Given the description of an element on the screen output the (x, y) to click on. 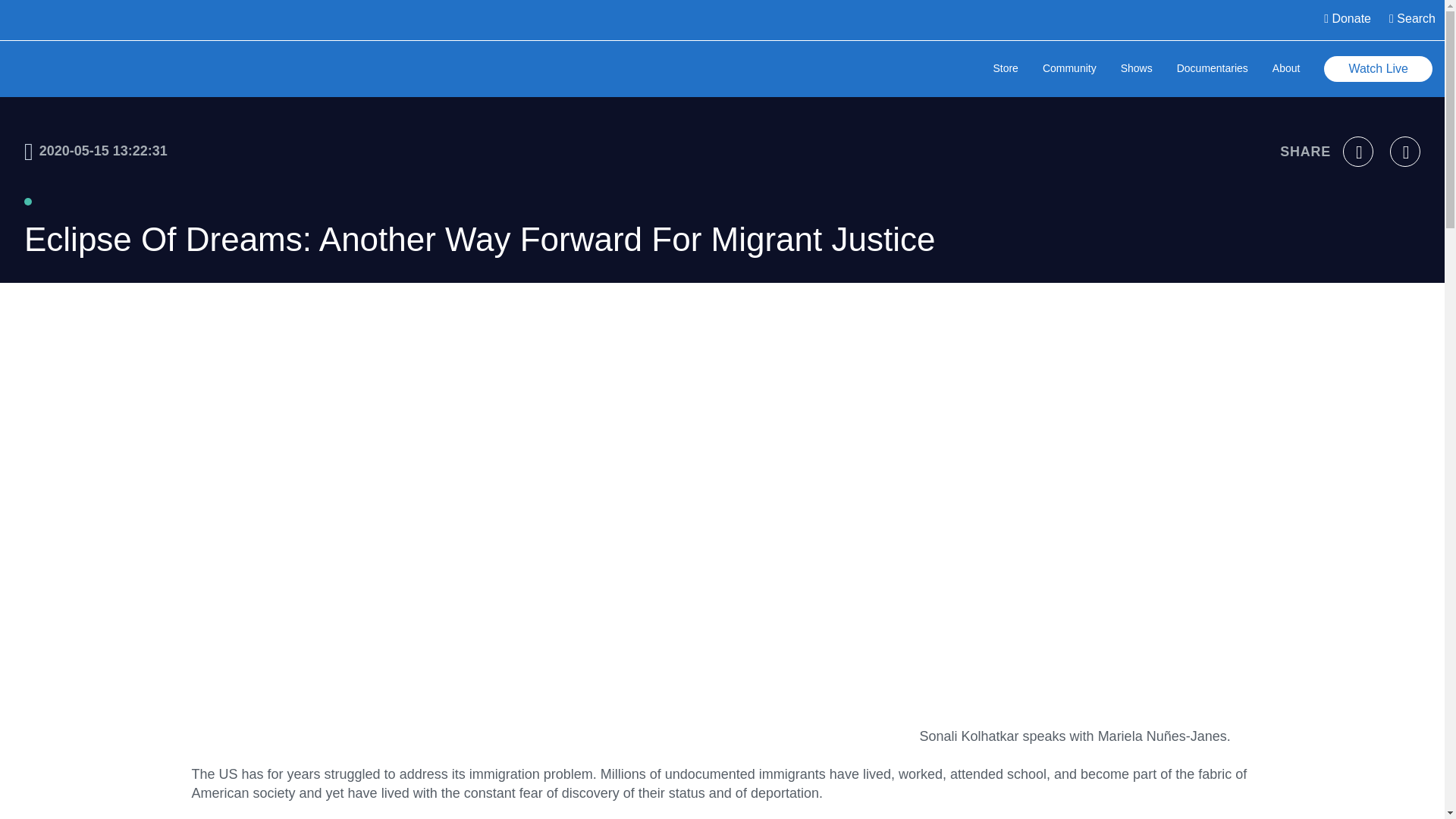
Community (1069, 69)
Watch Live (1377, 68)
Documentaries (1211, 69)
Search (1412, 20)
Donate (1347, 20)
